Given the description of an element on the screen output the (x, y) to click on. 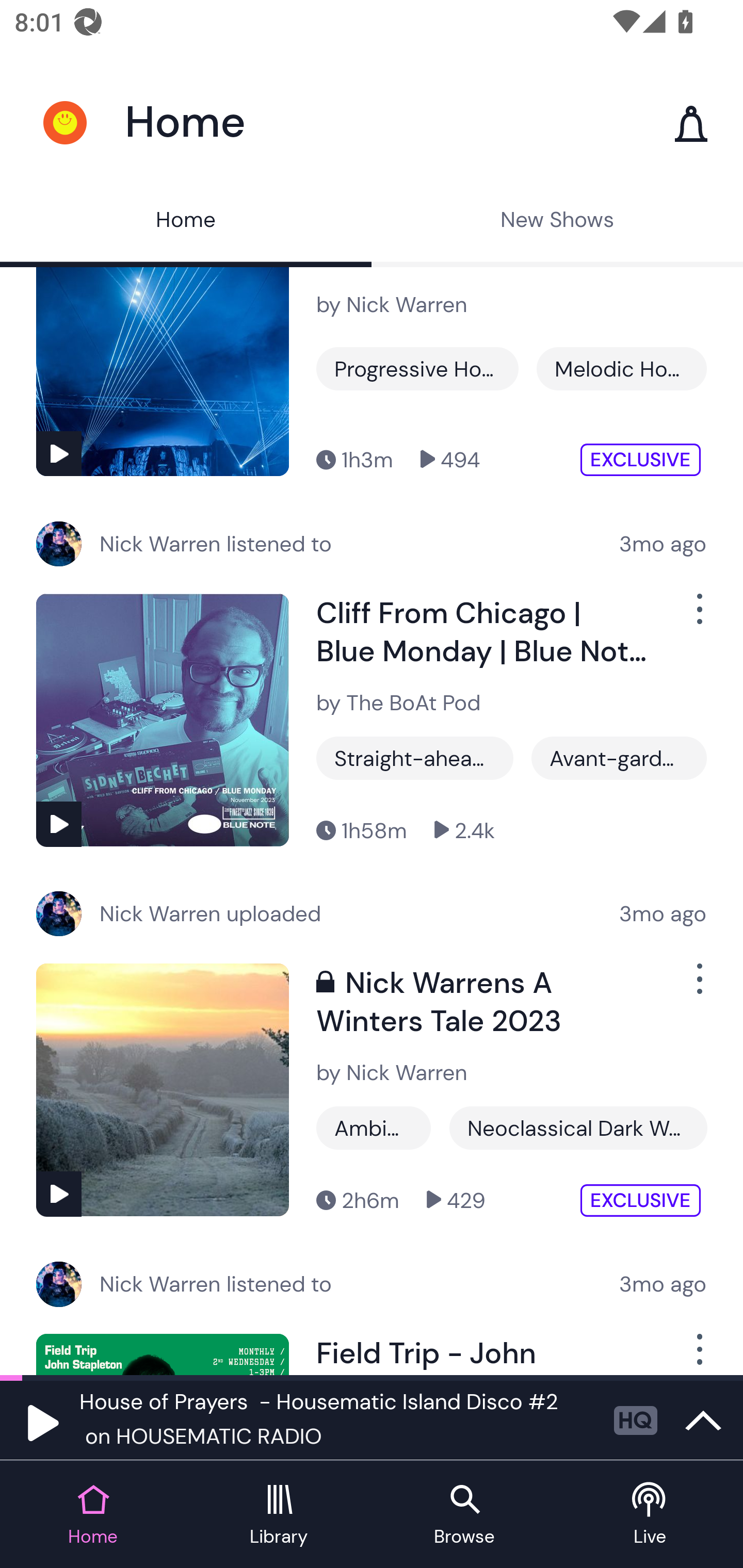
Home (185, 221)
New Shows (557, 221)
Progressive House (417, 368)
Melodic House (621, 368)
Show Options Menu Button (697, 617)
Straight-ahead Jazz (414, 757)
Avant-garde Jazz (618, 757)
Show Options Menu Button (697, 985)
Ambient (373, 1128)
Neoclassical Dark Wave (577, 1128)
Show Options Menu Button (697, 1354)
Home tab Home (92, 1515)
Library tab Library (278, 1515)
Browse tab Browse (464, 1515)
Live tab Live (650, 1515)
